Given the description of an element on the screen output the (x, y) to click on. 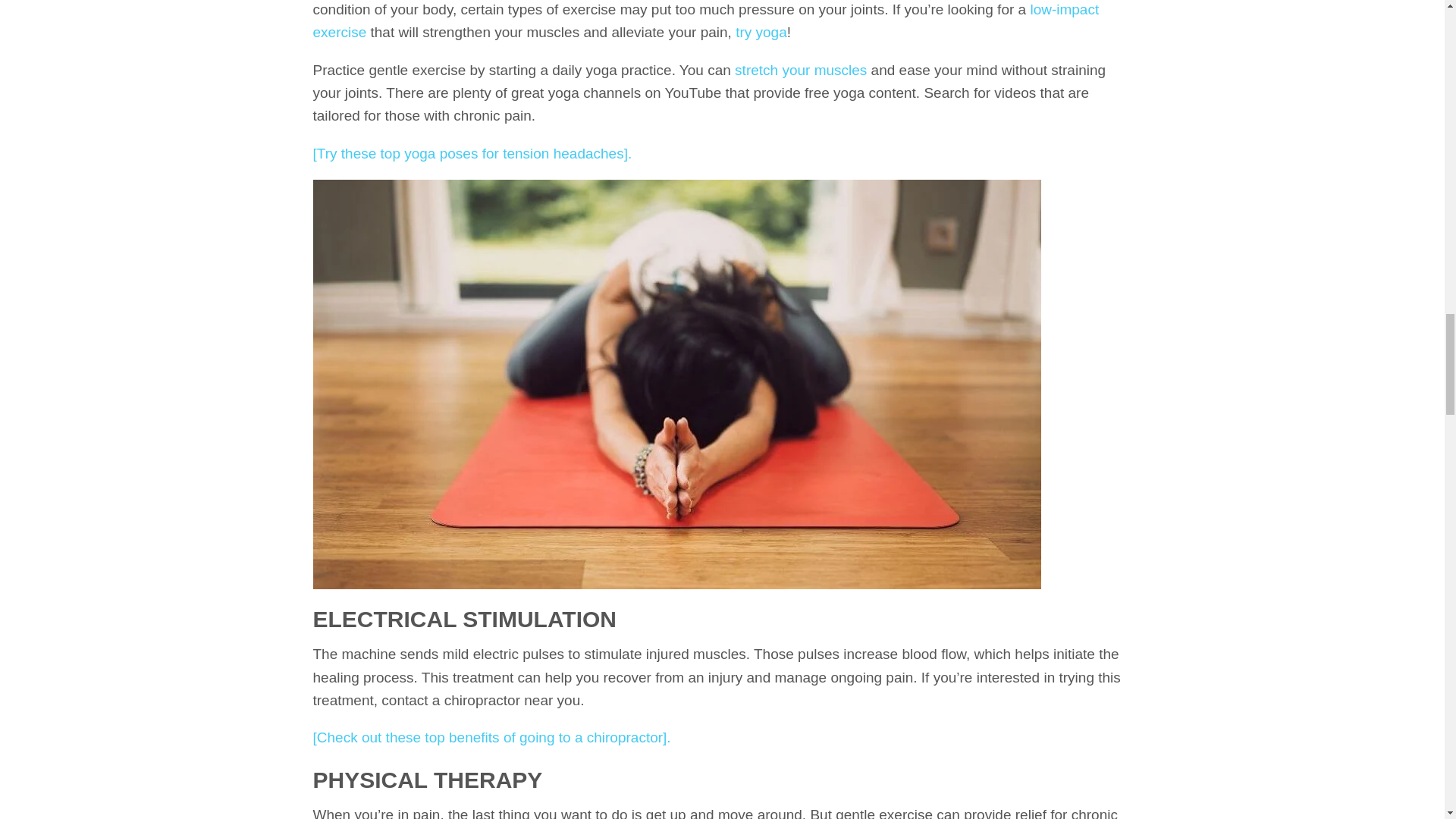
try yoga (761, 32)
stretch your muscles (800, 69)
low-impact exercise (706, 20)
